Given the description of an element on the screen output the (x, y) to click on. 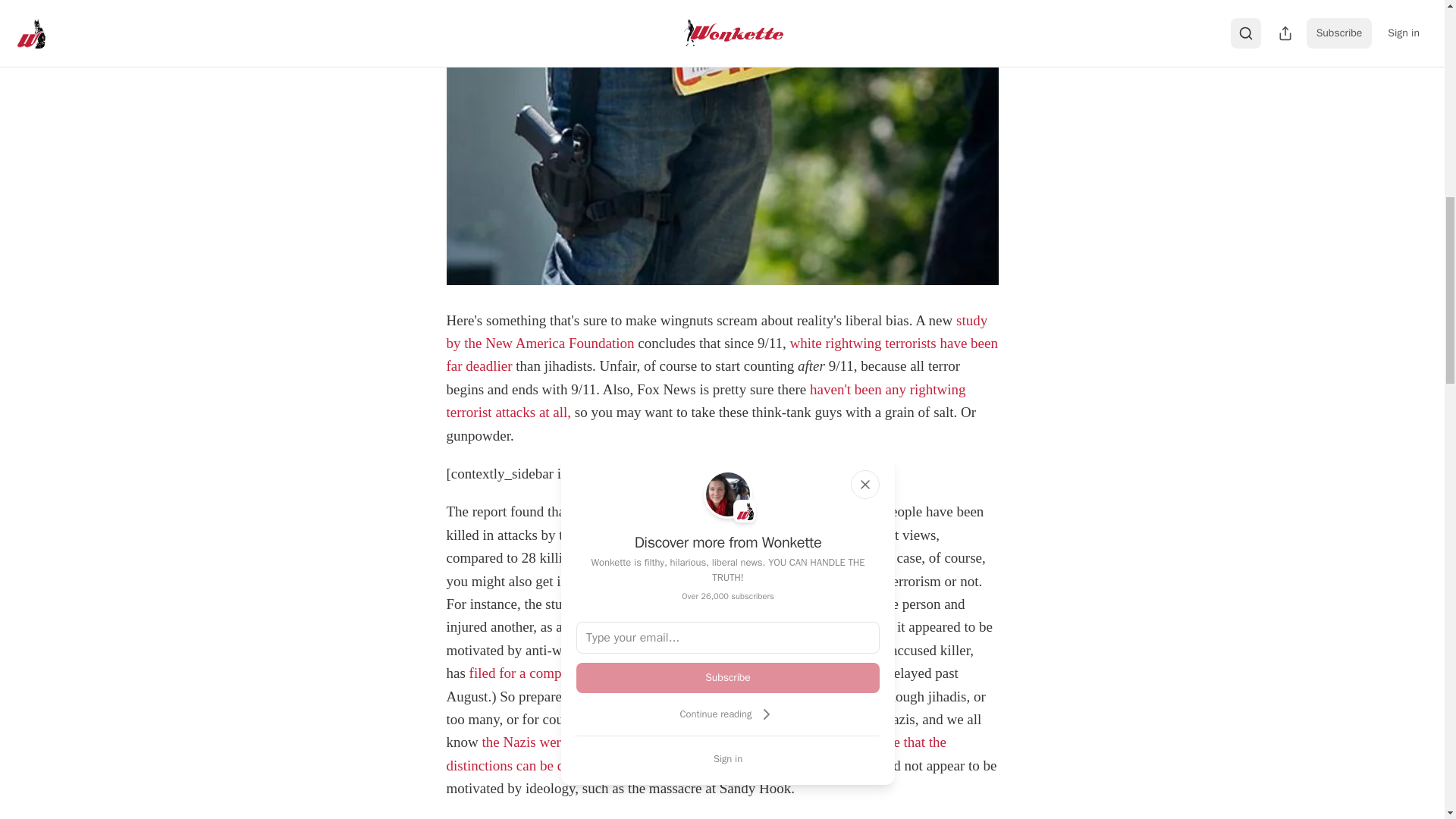
study by the New America Foundation (716, 331)
haven't been any rightwing terrorist attacks at all, (705, 400)
Subscribe (727, 677)
the Nazis were socialists, (554, 741)
filed for a competency hearing (557, 672)
acknowledge that the distinctions can be difficult, (695, 753)
white rightwing terrorists have been far deadlier (721, 353)
FBI and local police said (821, 626)
Sign in (727, 758)
